Given the description of an element on the screen output the (x, y) to click on. 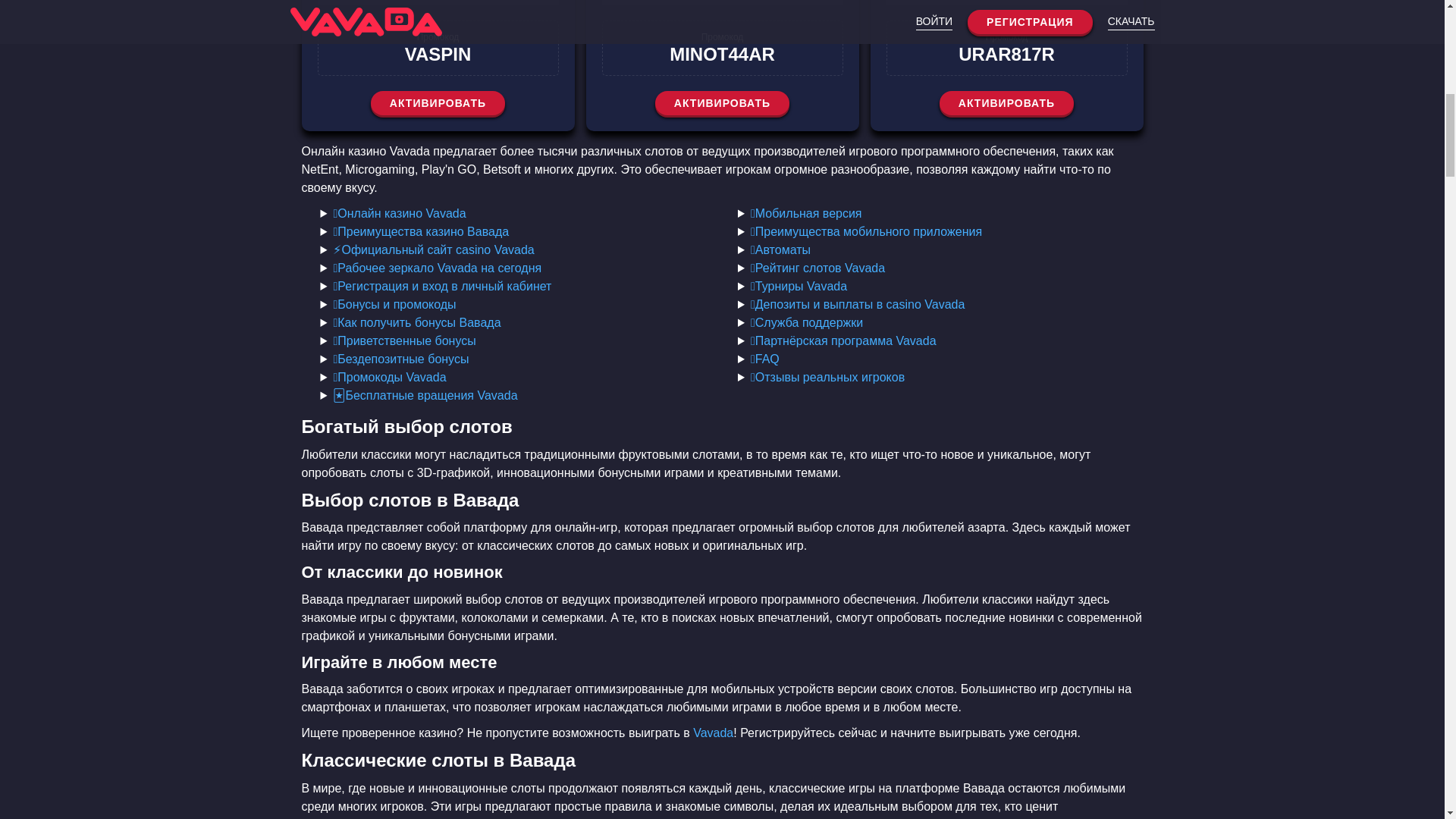
Vavada (713, 732)
